Given the description of an element on the screen output the (x, y) to click on. 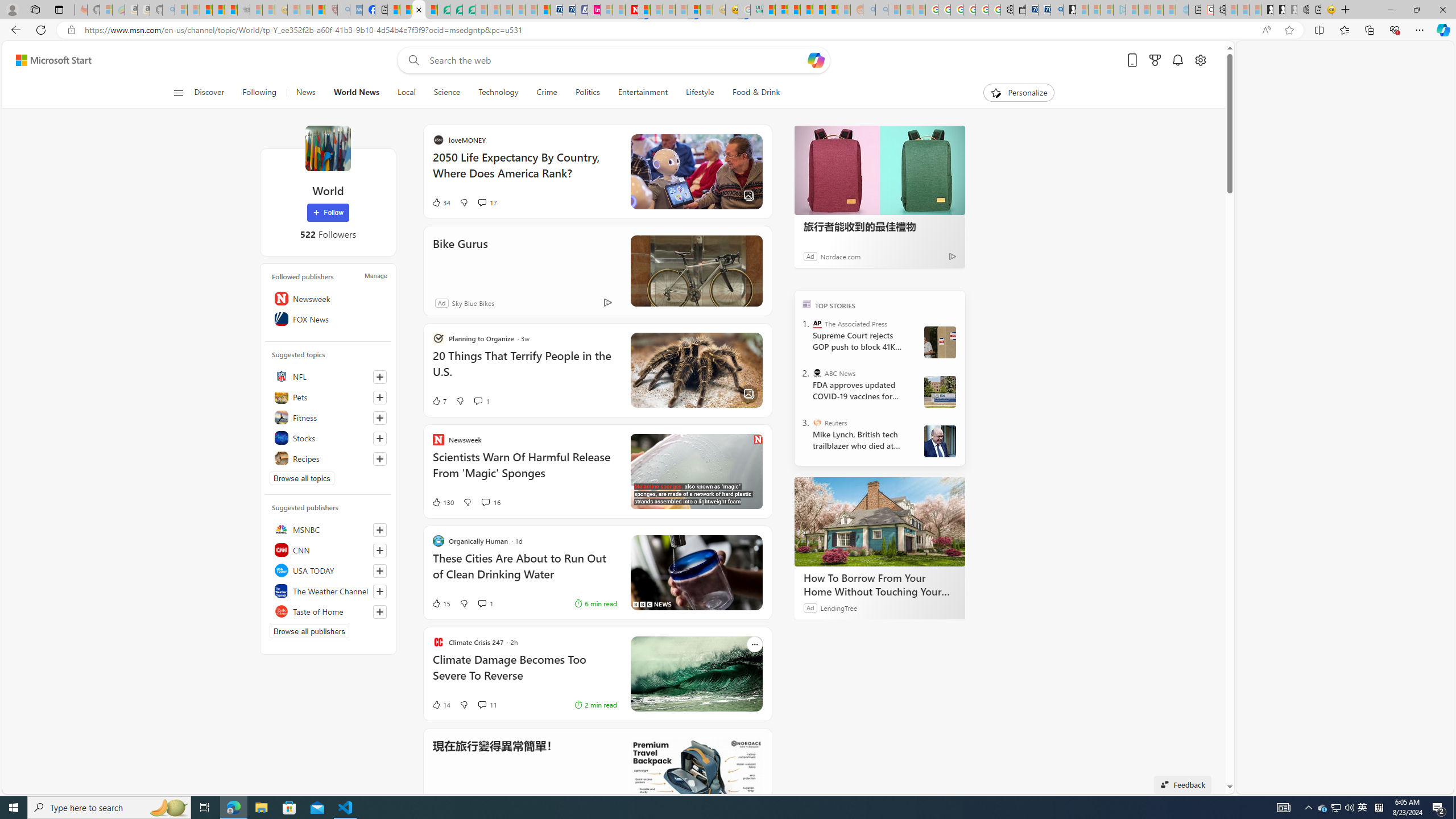
Bike Gurus (805, 270)
Class: hero-image (696, 471)
Pets (327, 397)
MSNBC (327, 529)
